Given the description of an element on the screen output the (x, y) to click on. 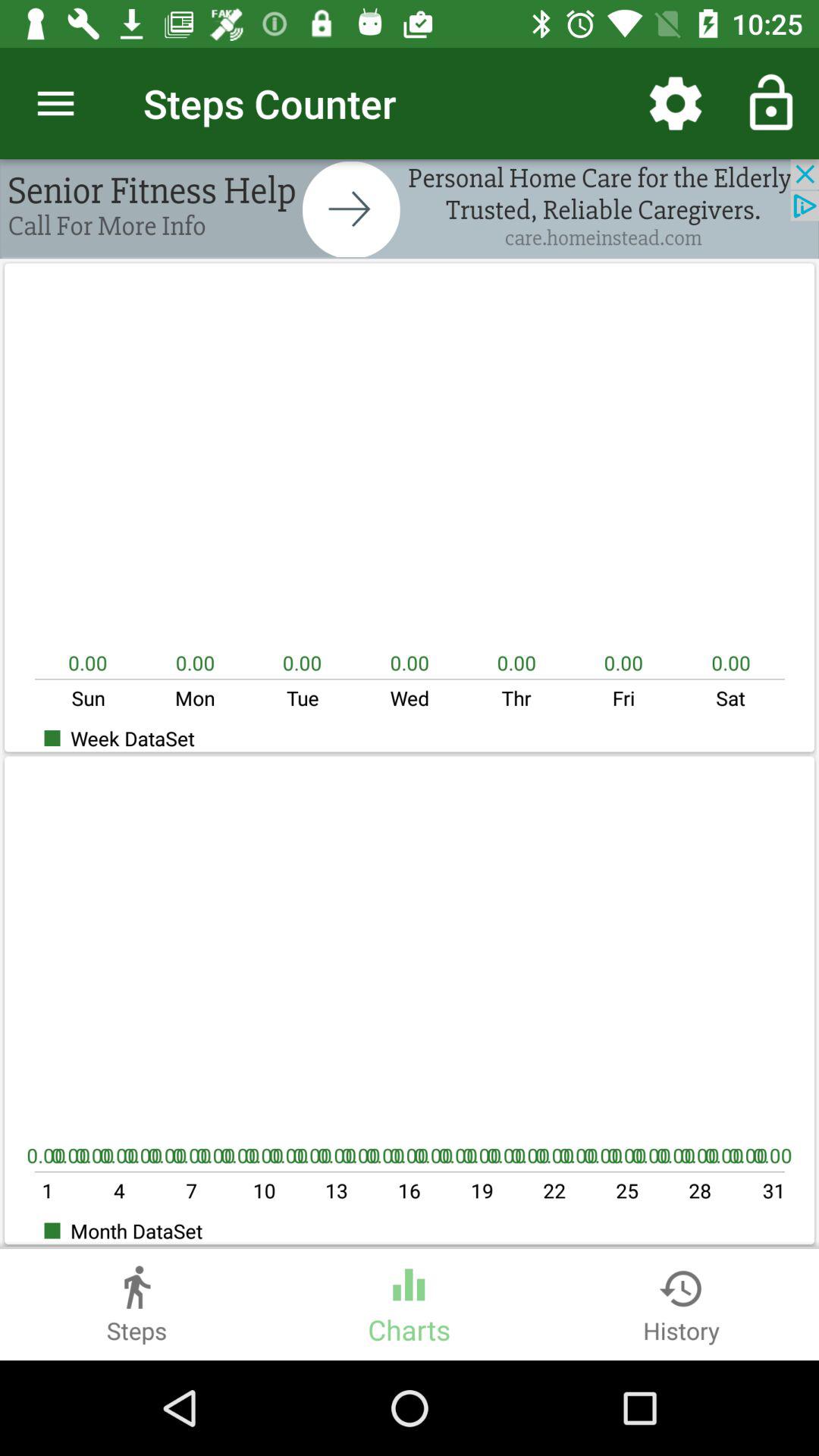
in app advertisement space (409, 208)
